Given the description of an element on the screen output the (x, y) to click on. 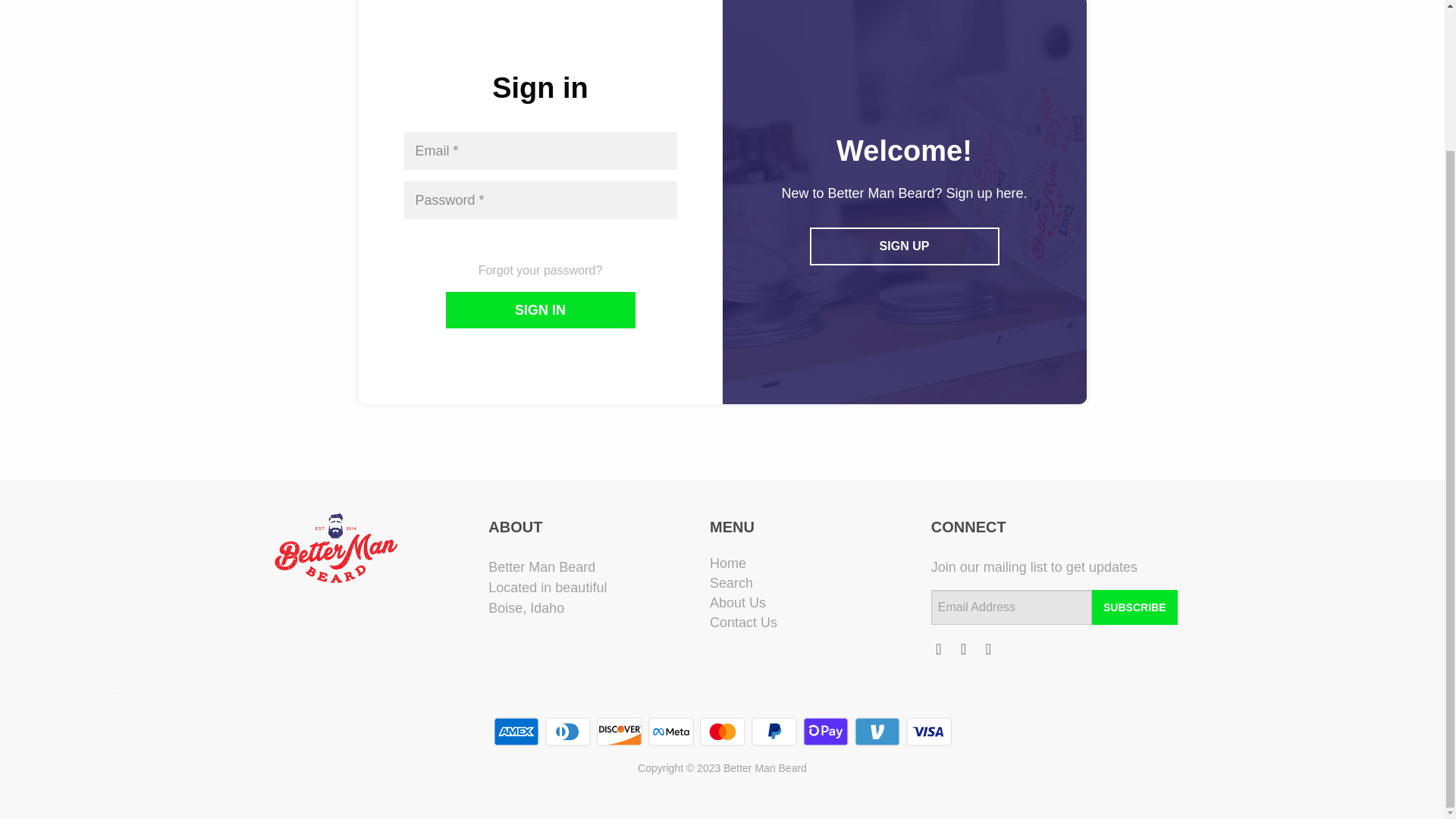
Venmo (876, 731)
American Express (515, 731)
PayPal (773, 731)
Mastercard (721, 731)
Discover (618, 731)
Meta Pay (670, 731)
Visa (927, 731)
Shop Pay (824, 731)
Diners Club (566, 731)
